Given the description of an element on the screen output the (x, y) to click on. 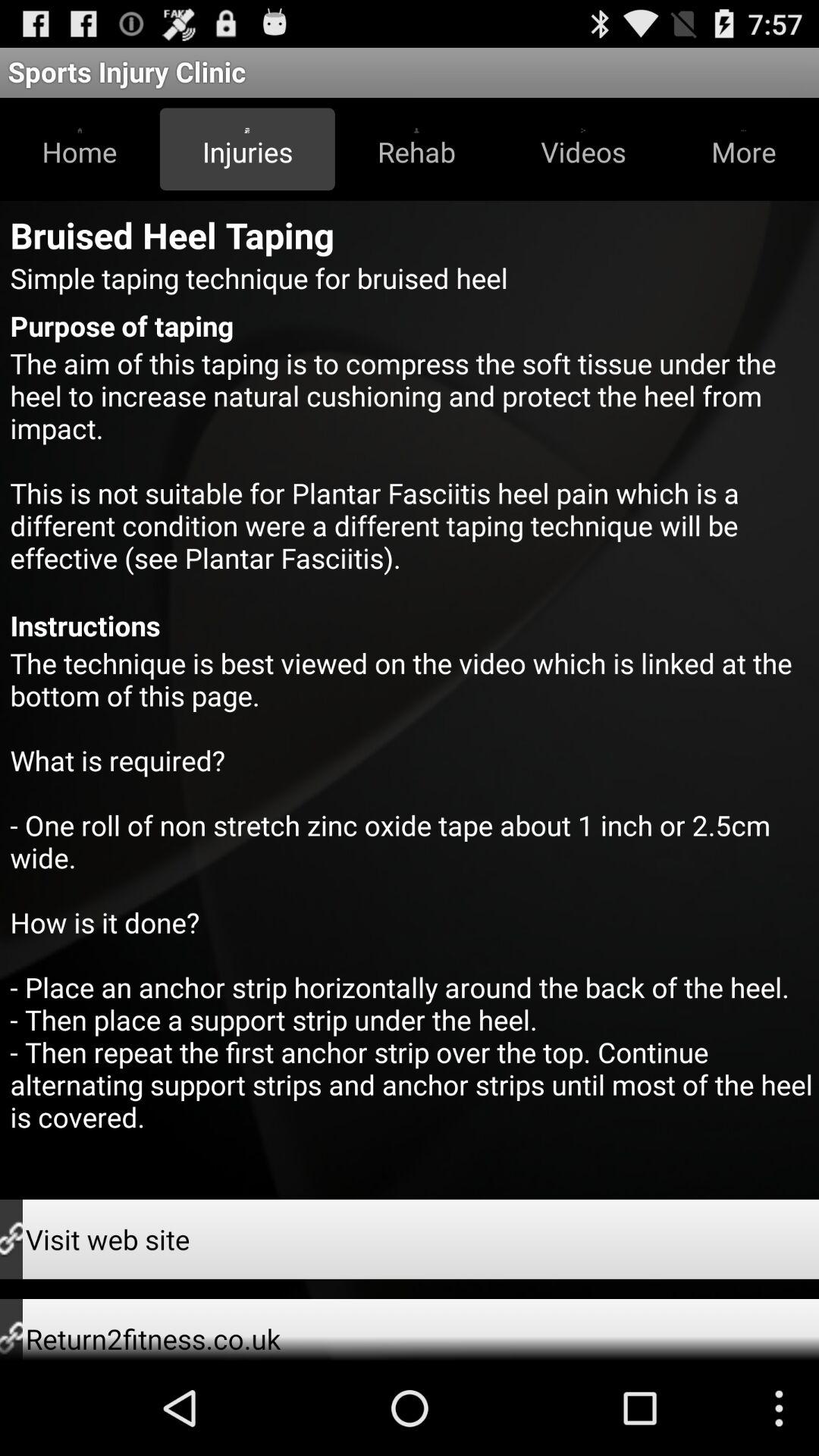
jump until home (79, 149)
